Given the description of an element on the screen output the (x, y) to click on. 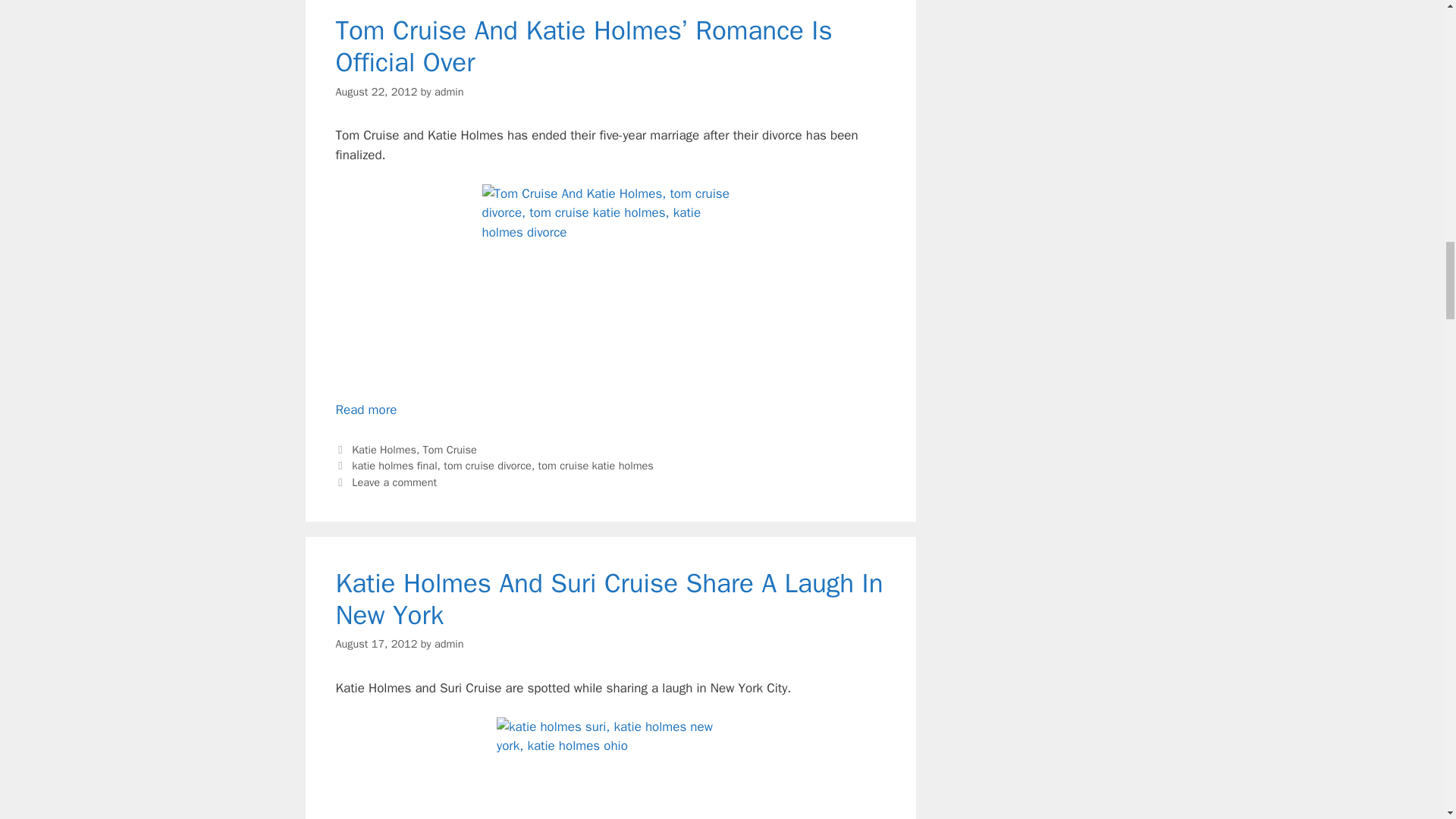
View all posts by admin (448, 91)
Tom Cruise And Katie Holmes' Romance Is Official Over (610, 282)
View all posts by admin (448, 643)
Katie Holmes And Suri Cruise Share A Laugh In New York  (609, 768)
